Given the description of an element on the screen output the (x, y) to click on. 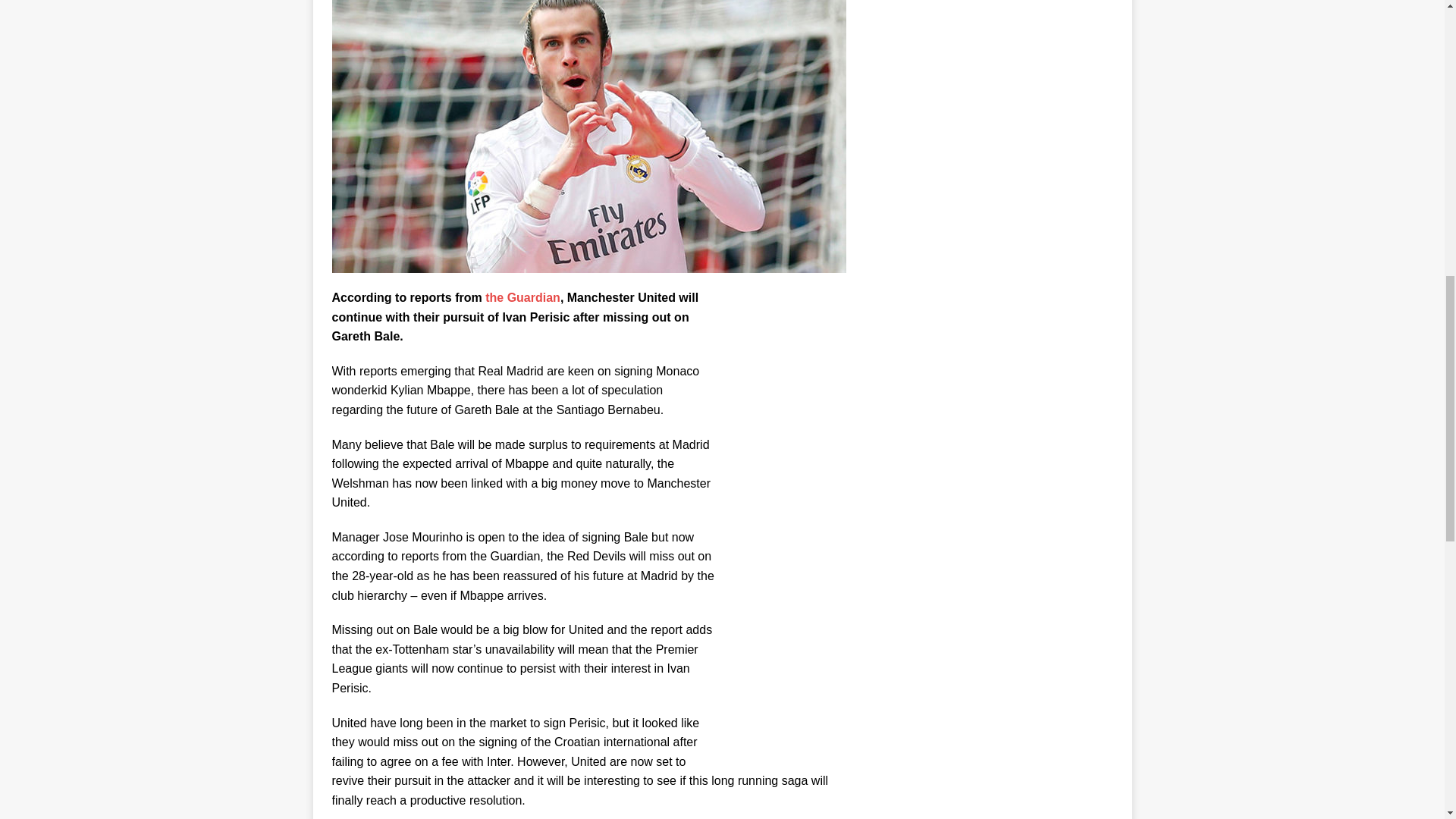
the Guardian (522, 297)
